Given the description of an element on the screen output the (x, y) to click on. 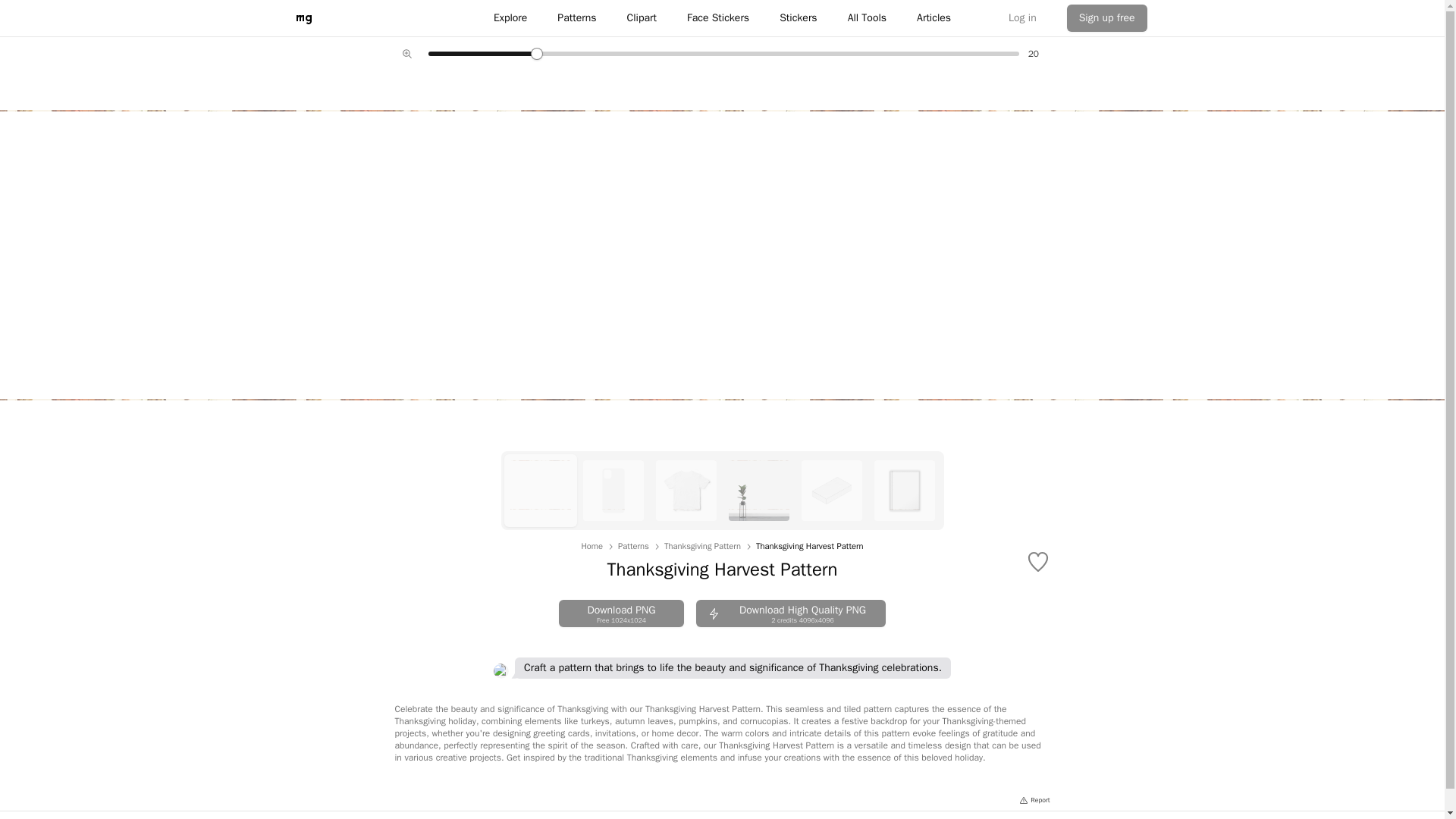
Sign up free (1107, 17)
Log in (1021, 17)
Report (1034, 800)
Toggle Dark Mode (1137, 817)
Face Stickers (718, 17)
Patterns (621, 613)
Clipart (633, 546)
All Tools (641, 17)
Patterns (866, 17)
